Given the description of an element on the screen output the (x, y) to click on. 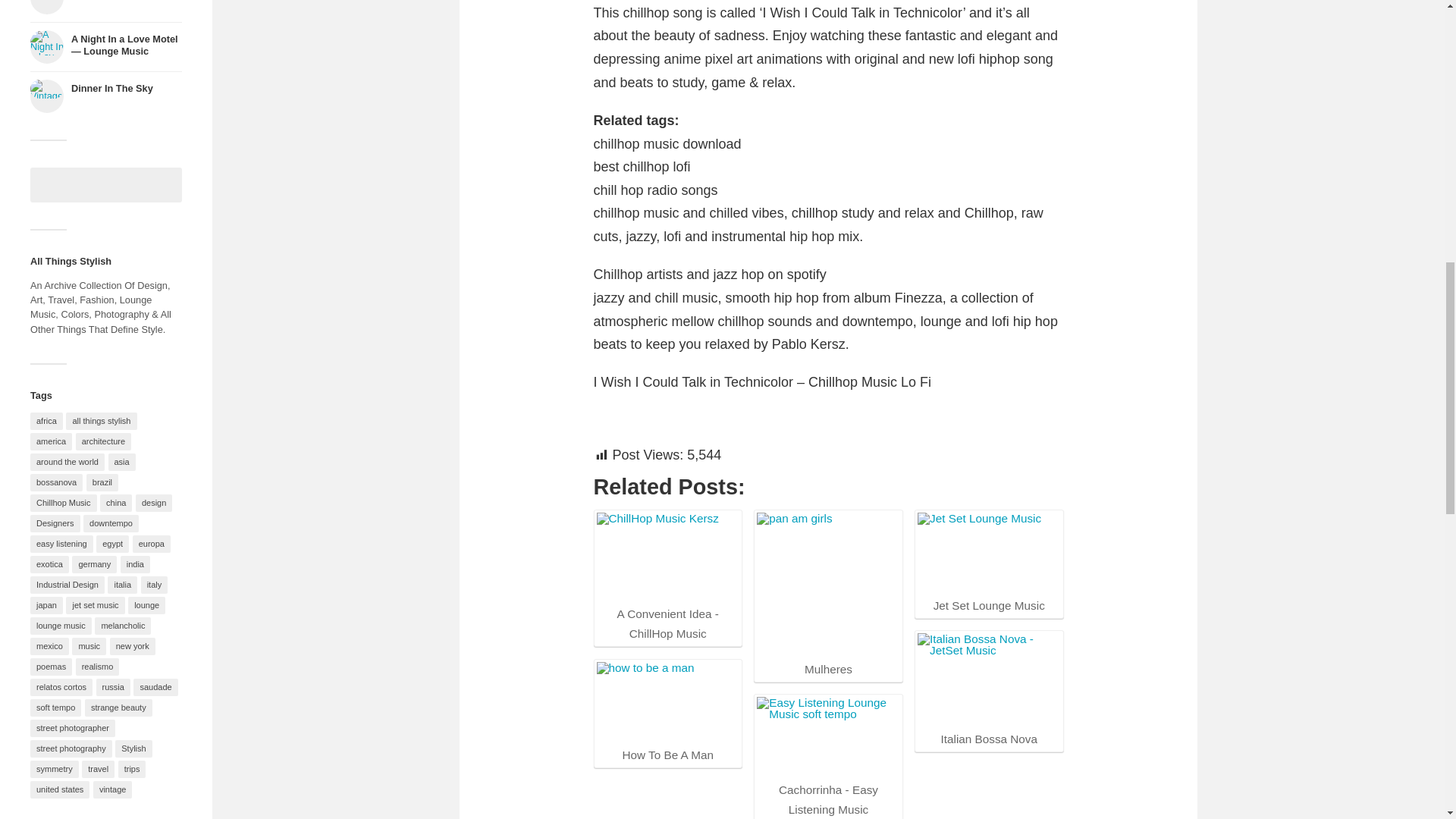
downtempo (110, 522)
architecture (103, 440)
america (50, 440)
Jet Set Lounge Music (988, 552)
easy listening (61, 543)
Italian Bossa Nova (988, 680)
Designers (55, 522)
A Convenient Idea - ChillHop Music (666, 556)
Mulheres (828, 584)
How To Be A Man (666, 701)
